Given the description of an element on the screen output the (x, y) to click on. 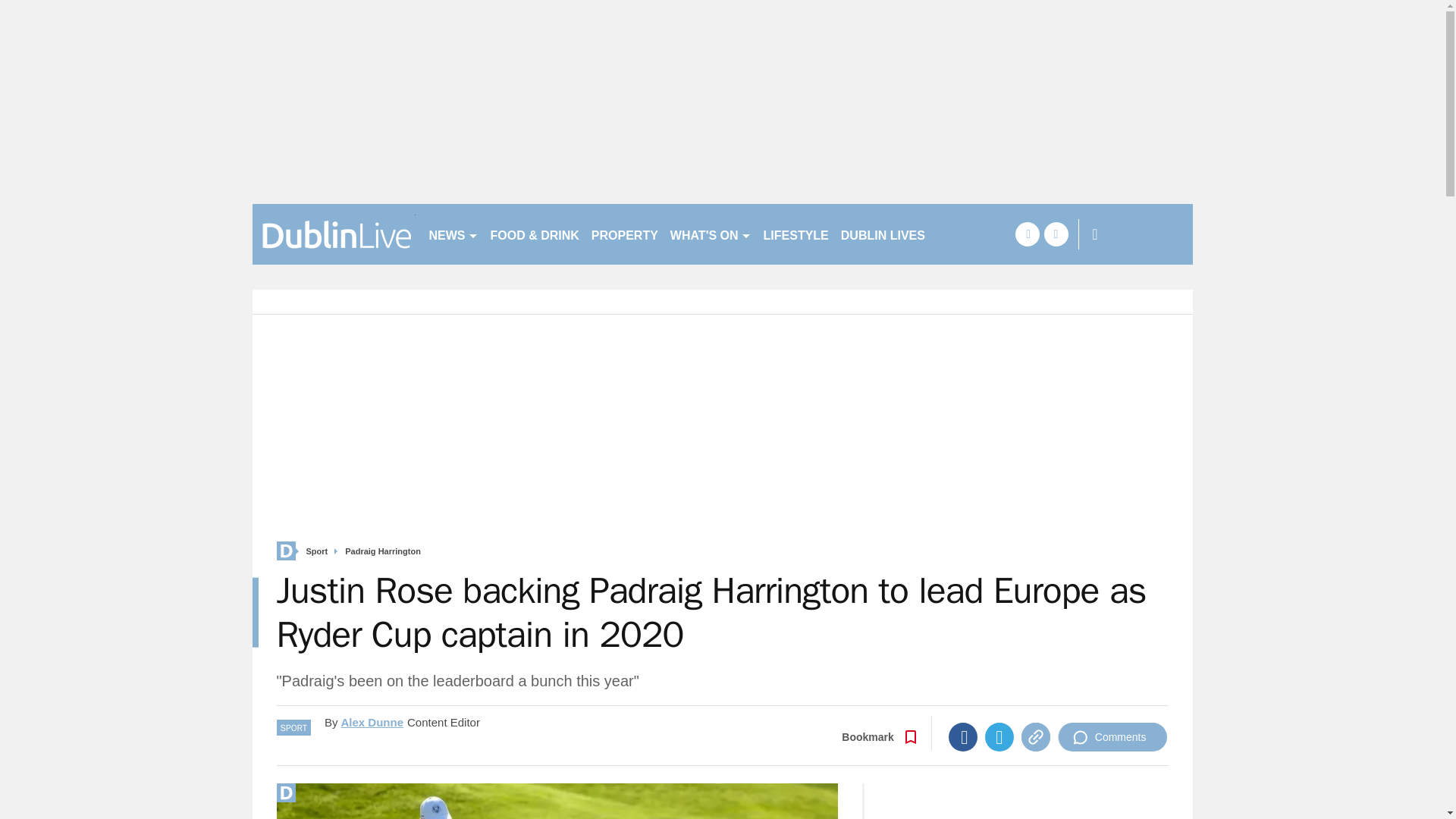
SOCCER (962, 233)
NEWS (453, 233)
Comments (1112, 736)
WHAT'S ON (710, 233)
dublinlive (332, 233)
Facebook (962, 736)
PROPERTY (624, 233)
Twitter (999, 736)
DUBLIN LIVES (882, 233)
facebook (1026, 233)
LIFESTYLE (795, 233)
twitter (1055, 233)
